Given the description of an element on the screen output the (x, y) to click on. 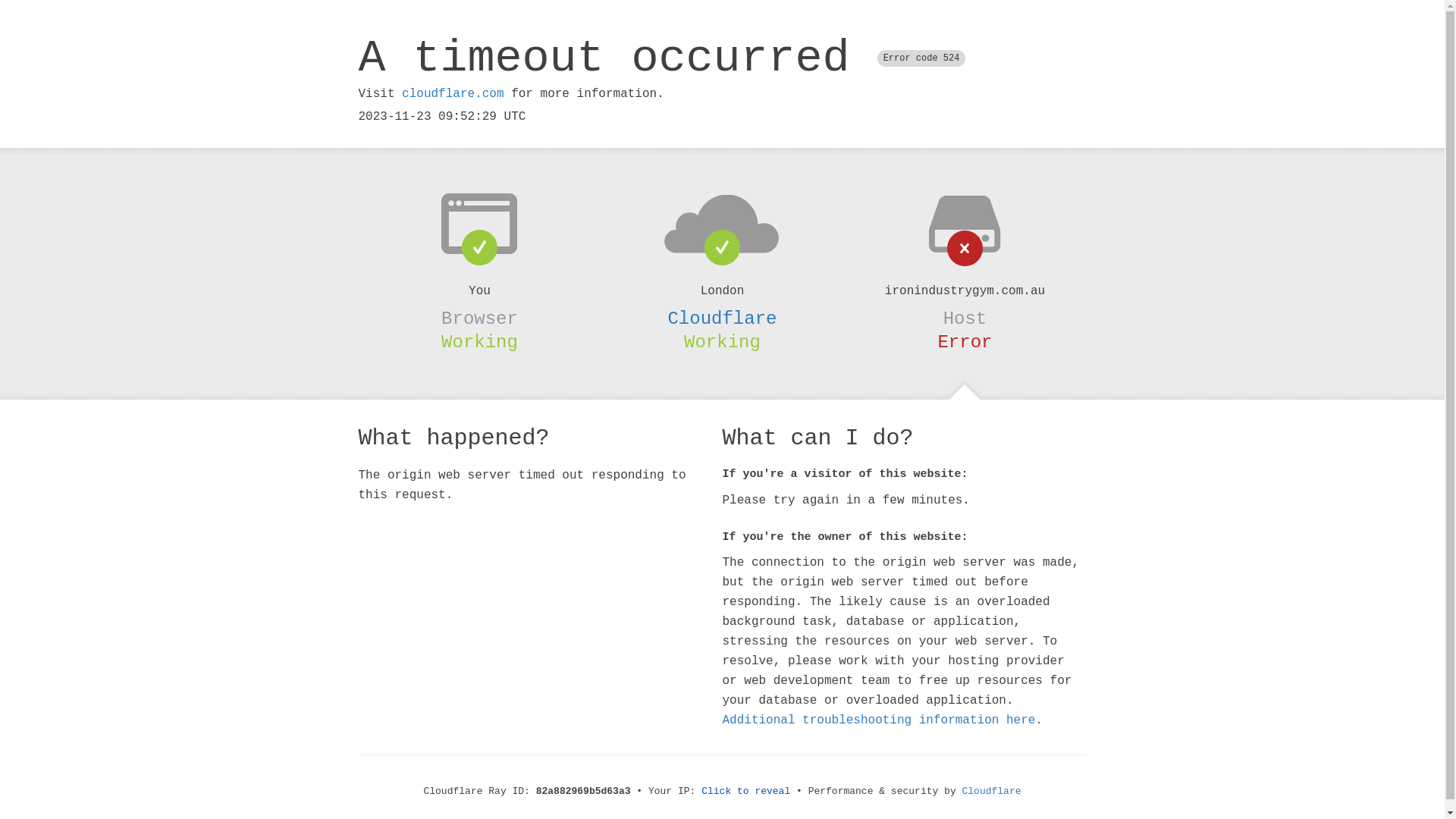
Additional troubleshooting information here. Element type: text (881, 720)
cloudflare.com Element type: text (452, 93)
Cloudflare Element type: text (991, 791)
Click to reveal Element type: text (745, 791)
Cloudflare Element type: text (721, 318)
